Given the description of an element on the screen output the (x, y) to click on. 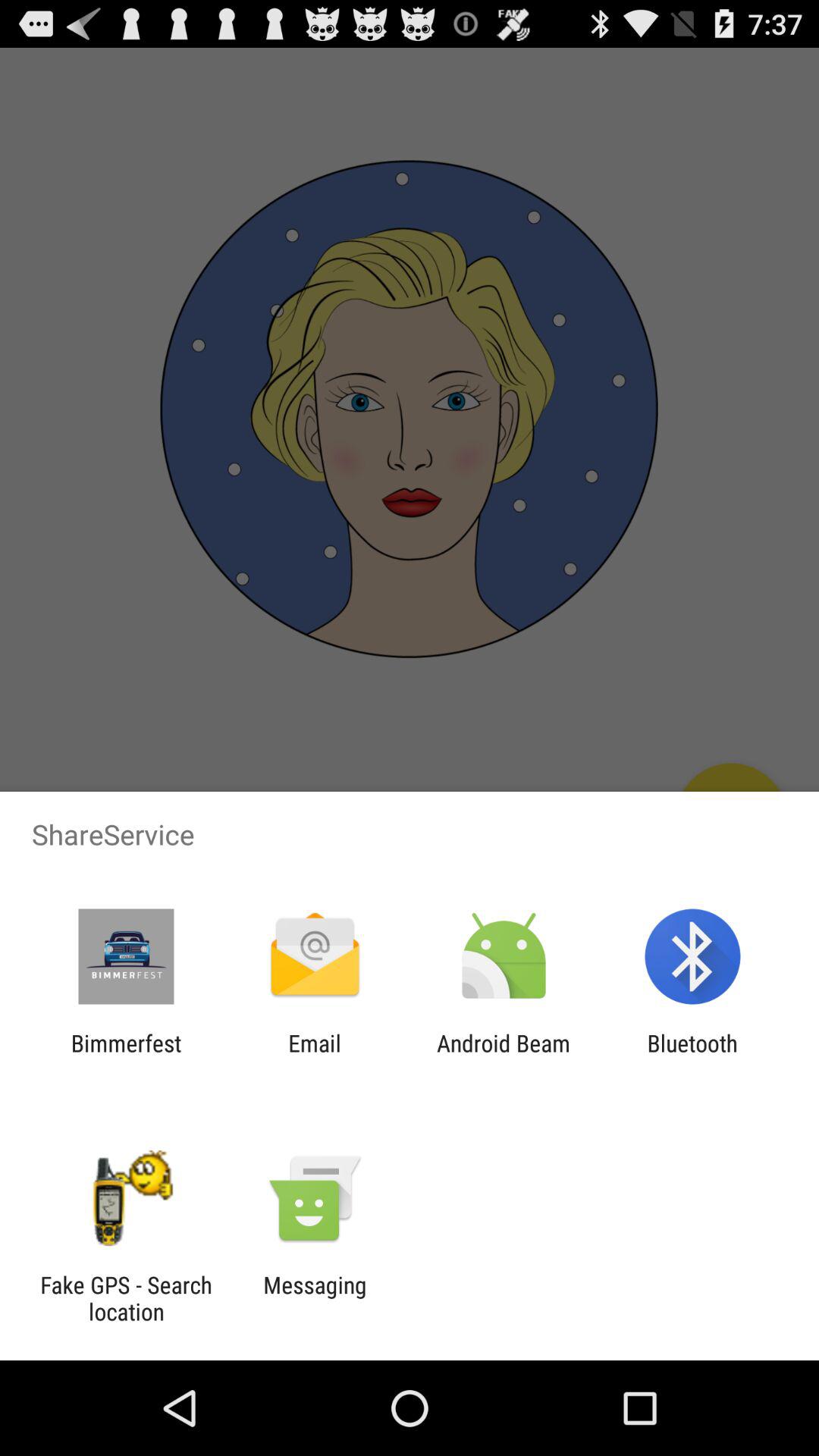
jump to the android beam icon (503, 1056)
